Given the description of an element on the screen output the (x, y) to click on. 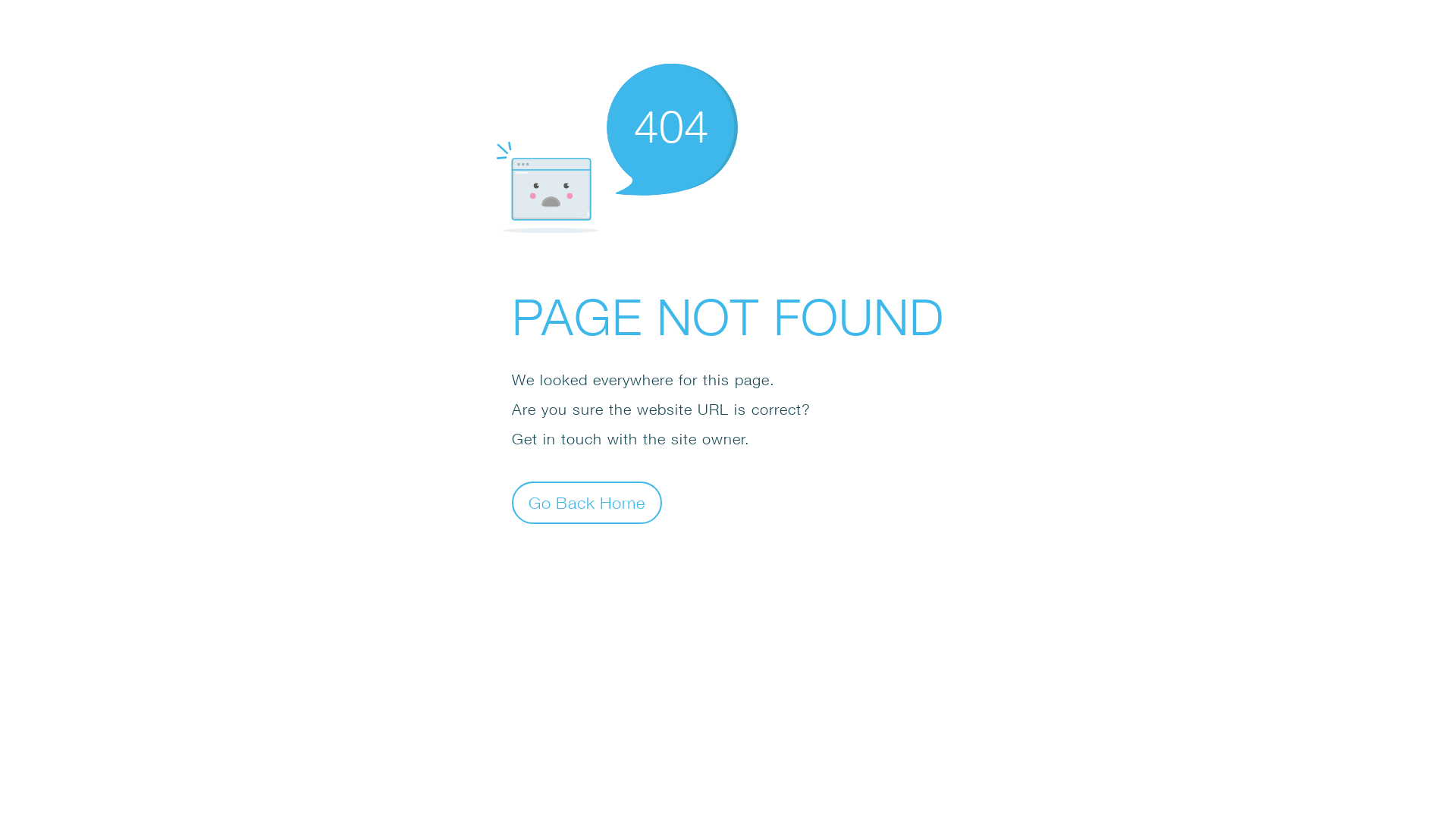
Go Back Home Element type: text (586, 502)
